Given the description of an element on the screen output the (x, y) to click on. 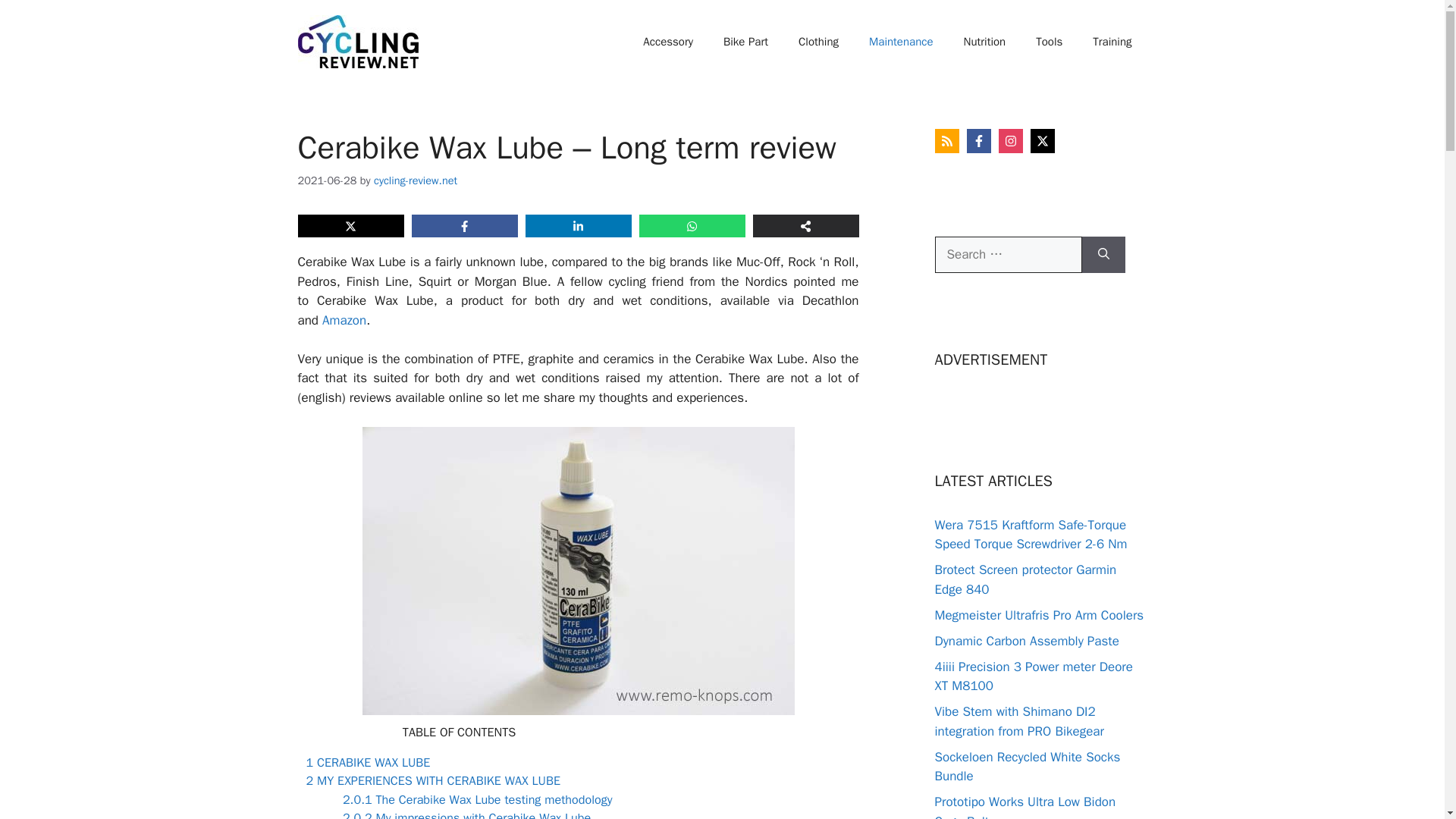
Training (1112, 41)
Search for: (1007, 254)
cycling-review.net (415, 180)
Accessory (667, 41)
Nutrition (983, 41)
Tools (1048, 41)
Amazon (343, 320)
2 MY EXPERIENCES WITH CERABIKE WAX LUBE (432, 780)
1 CERABIKE WAX LUBE (367, 762)
Clothing (818, 41)
Bike Part (745, 41)
Maintenance (900, 41)
2.0.1 The Cerabike Wax Lube testing methodology (477, 799)
2.0.2 My impressions with Cerabike Wax Lube (466, 814)
View all posts by cycling-review.net (415, 180)
